Given the description of an element on the screen output the (x, y) to click on. 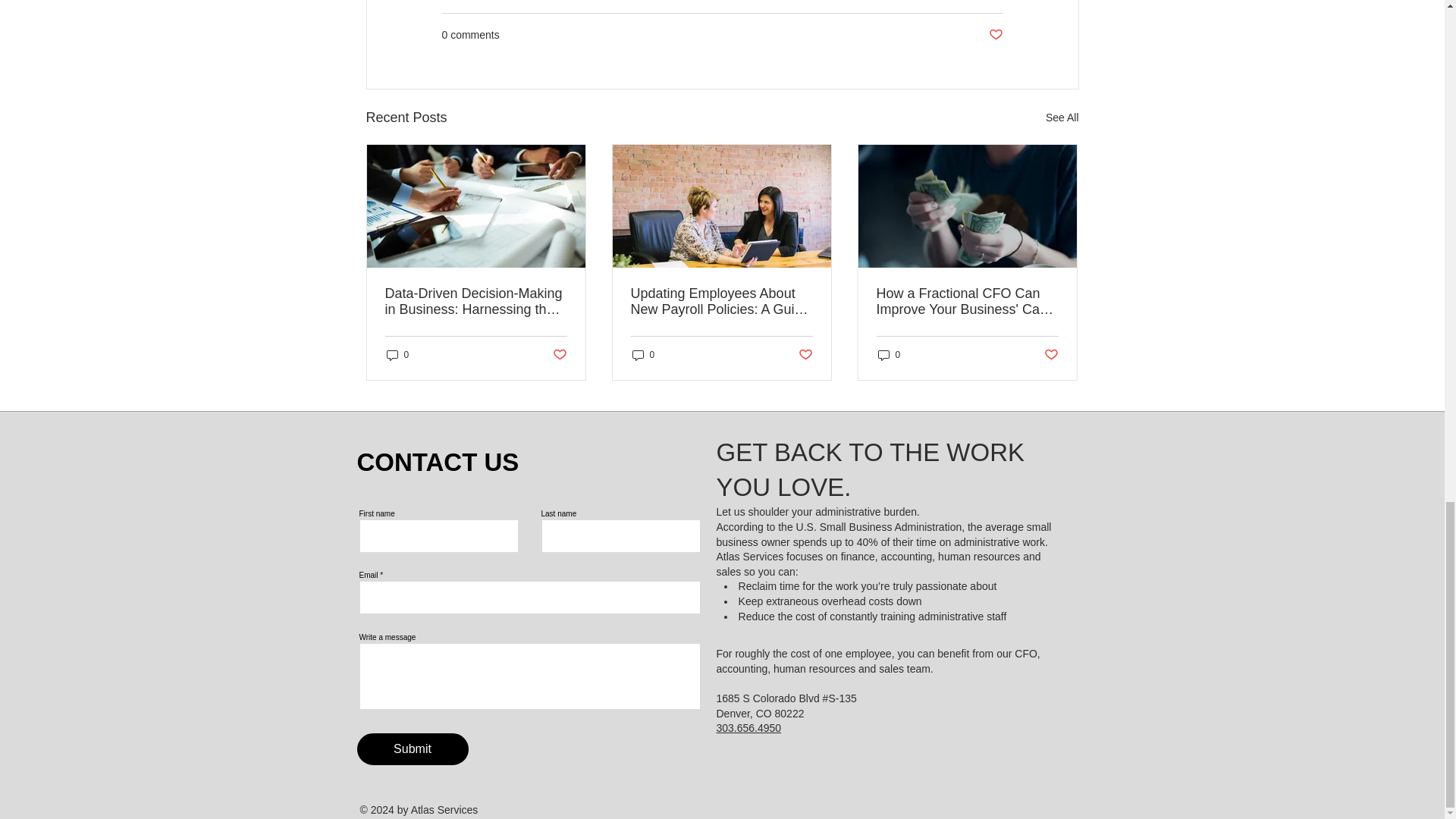
Post not marked as liked (995, 35)
0 (397, 355)
Post not marked as liked (558, 354)
See All (1061, 117)
0 (643, 355)
Post not marked as liked (804, 354)
